Given the description of an element on the screen output the (x, y) to click on. 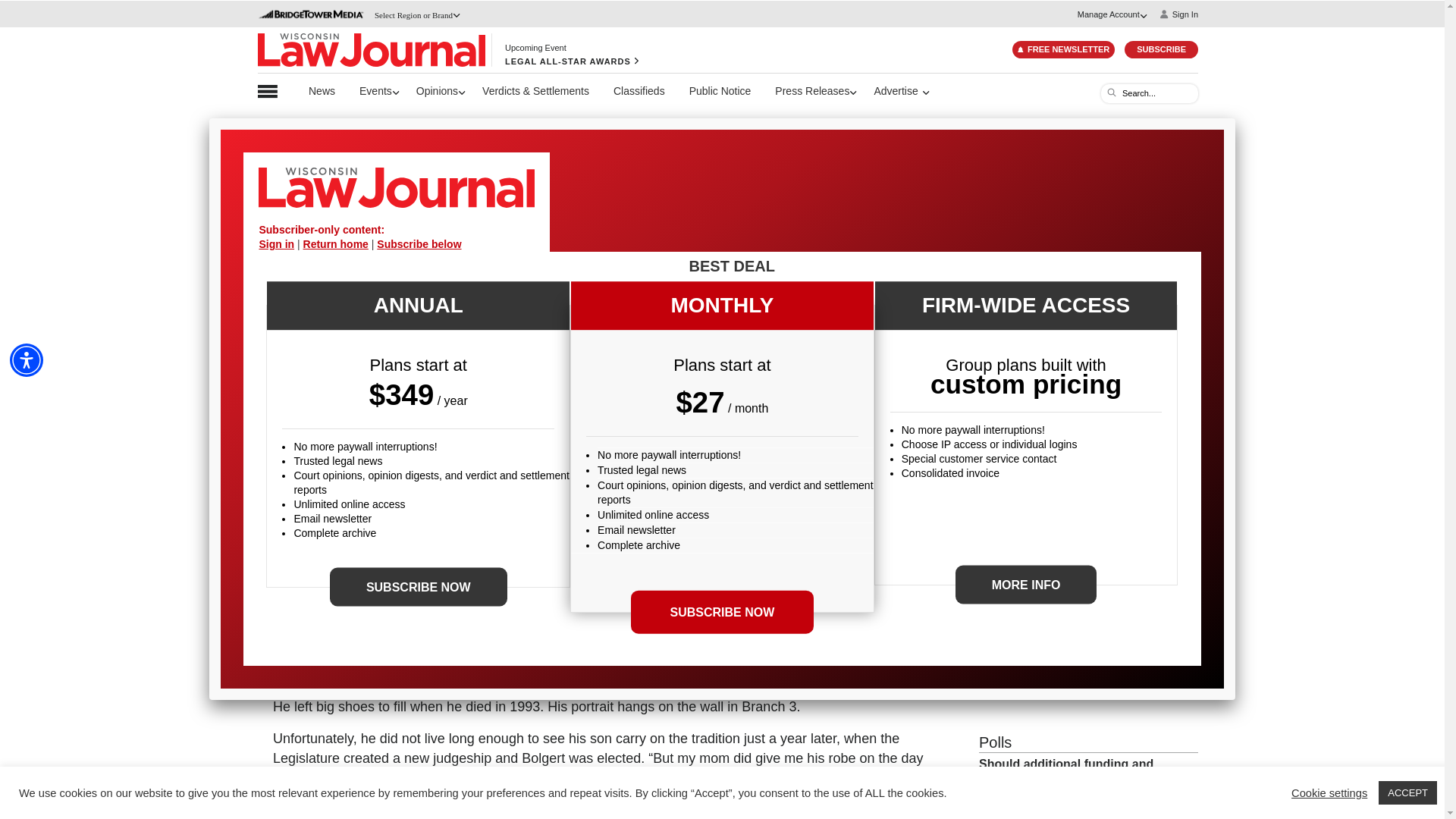
502 (1027, 815)
Share by Email (931, 313)
Accessibility Menu (26, 359)
3rd party ad content (1092, 609)
3rd party ad content (727, 160)
501 (986, 815)
